Given the description of an element on the screen output the (x, y) to click on. 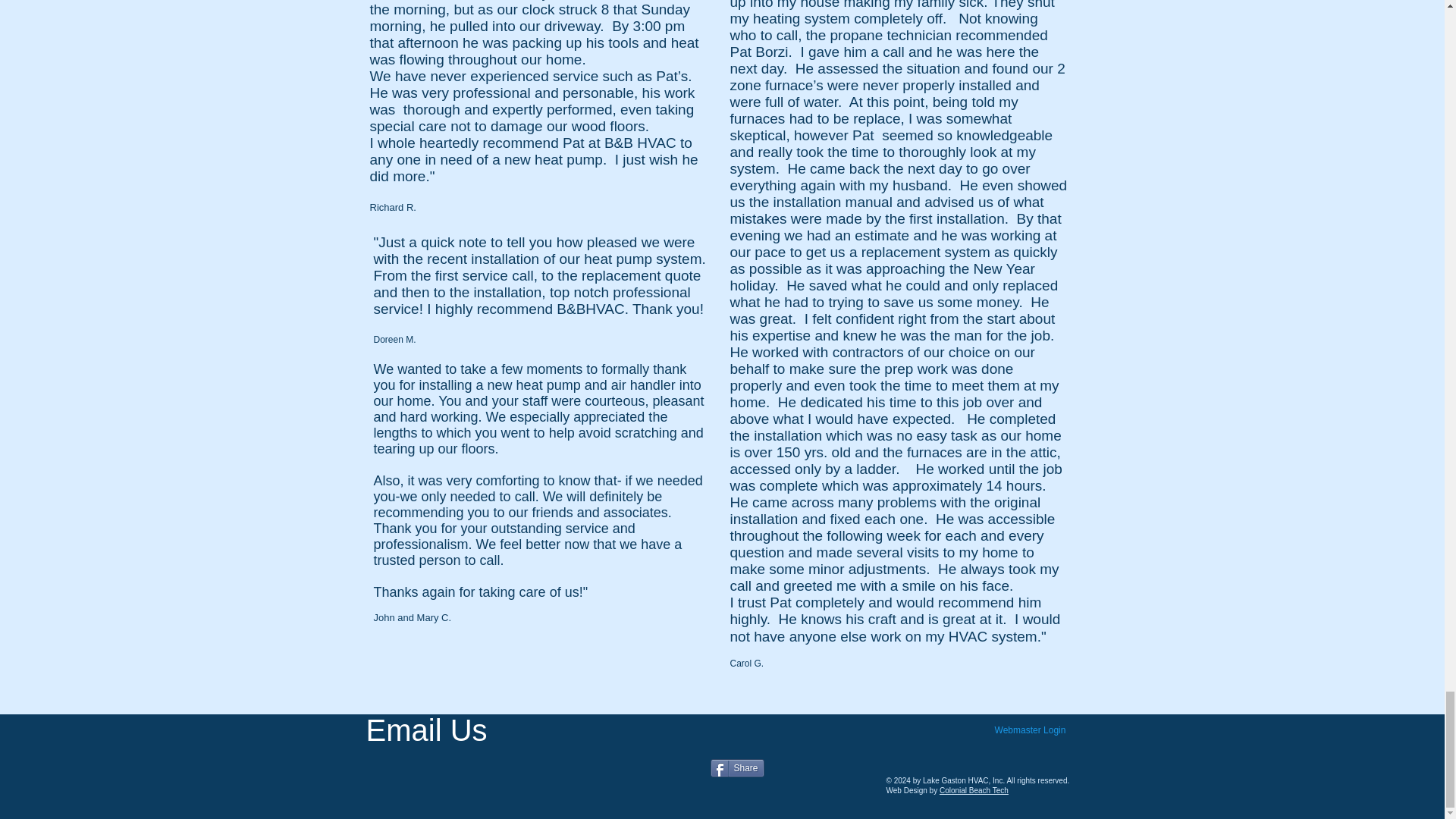
Share (736, 768)
Facebook Like (804, 748)
Webmaster Login (1029, 730)
Colonial Beach Tech (974, 790)
Share (736, 768)
Twitter Follow (595, 741)
Email Us (425, 729)
